Given the description of an element on the screen output the (x, y) to click on. 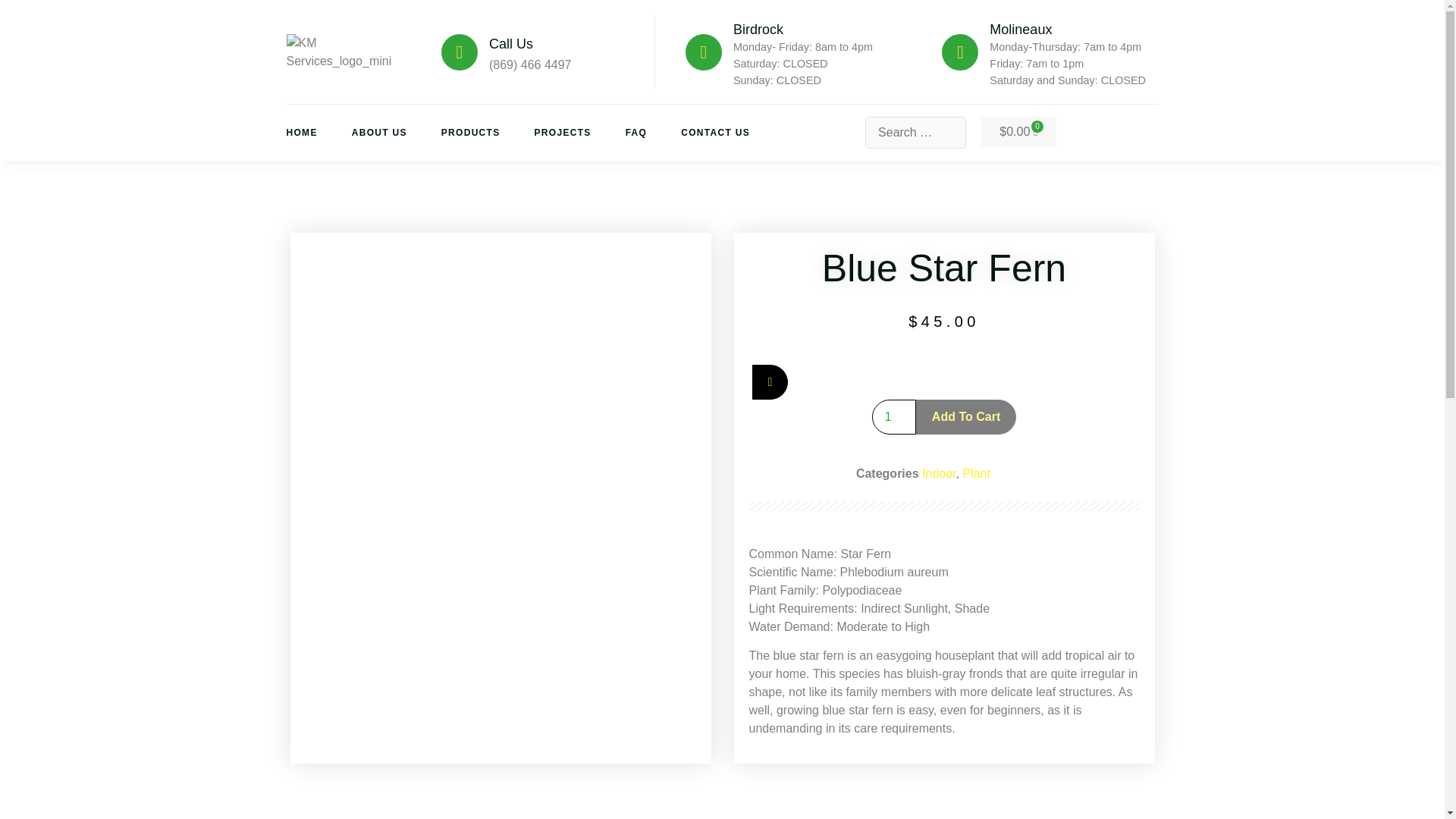
Plant (976, 472)
PRODUCTS (487, 132)
PROJECTS (580, 132)
FAQ (653, 132)
Add To Cart (965, 416)
HOME (319, 132)
ABOUT US (396, 132)
1 (893, 416)
Indoor (938, 472)
Add to Wishlist (770, 381)
CONTACT US (732, 132)
